Given the description of an element on the screen output the (x, y) to click on. 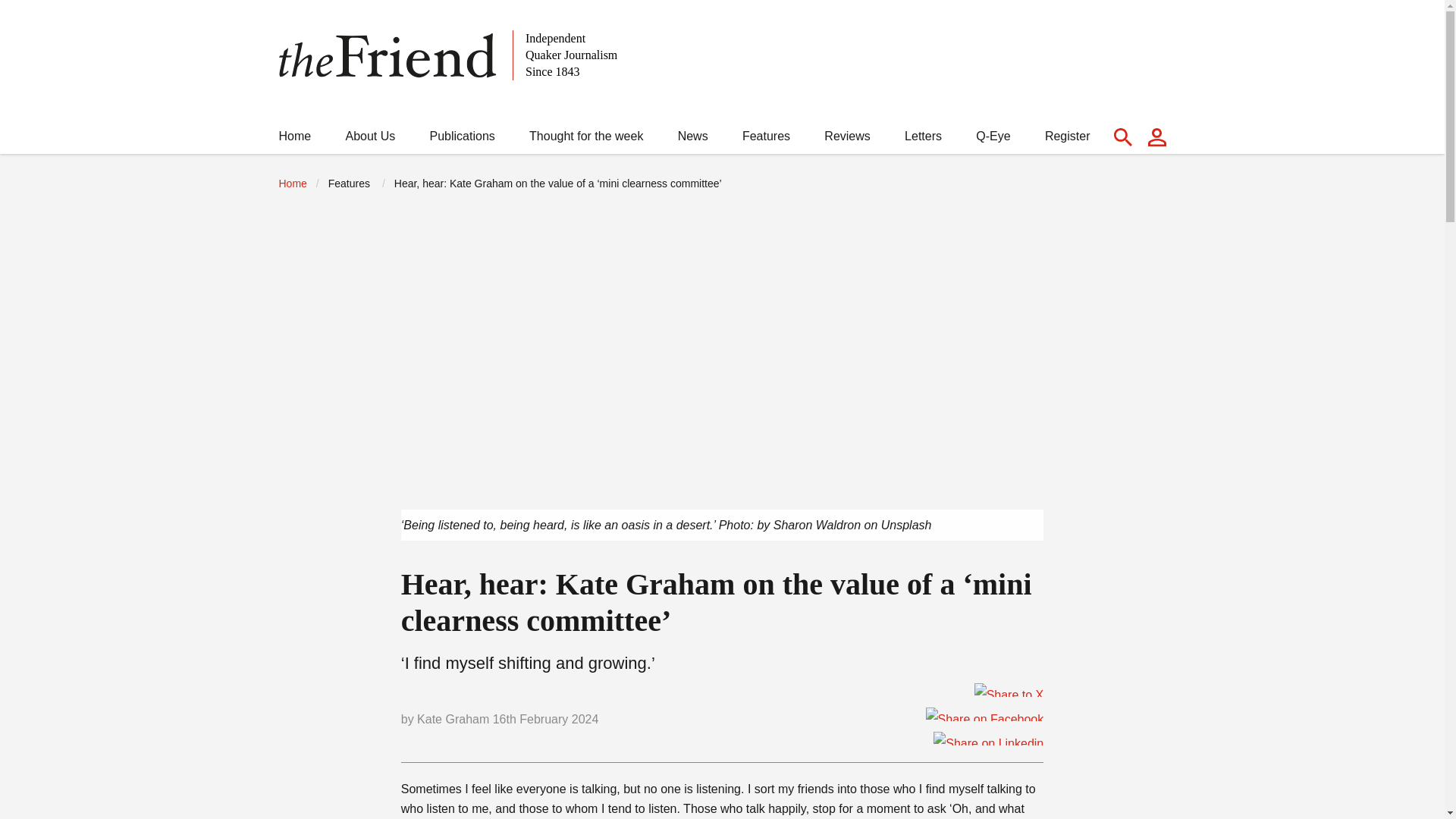
News (692, 139)
About Us (369, 139)
Share on Linkedin (988, 738)
Publications (462, 139)
Features (766, 139)
Share to X (1008, 689)
Home (295, 139)
Reviews (846, 139)
Register (1067, 139)
Q-Eye (992, 139)
